Given the description of an element on the screen output the (x, y) to click on. 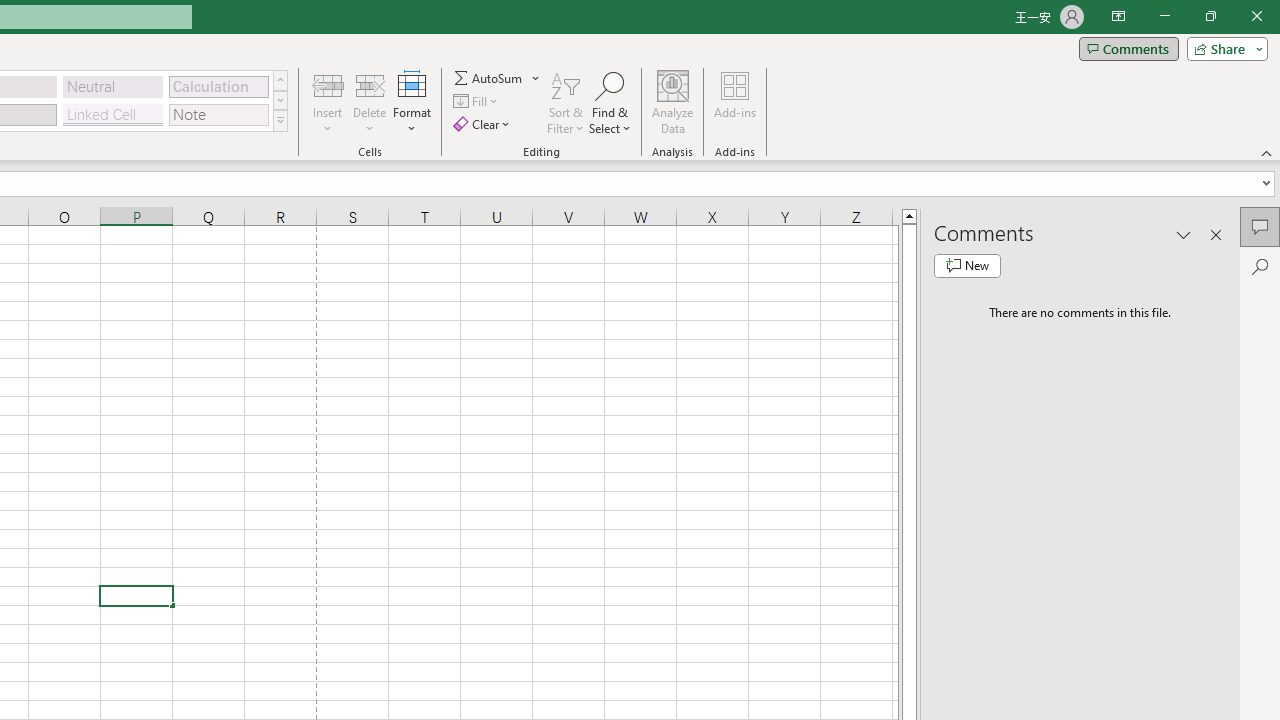
Collapse the Ribbon (1267, 152)
Task Pane Options (1183, 234)
Row Down (280, 100)
Insert Cells (328, 84)
Delete (369, 102)
